Given the description of an element on the screen output the (x, y) to click on. 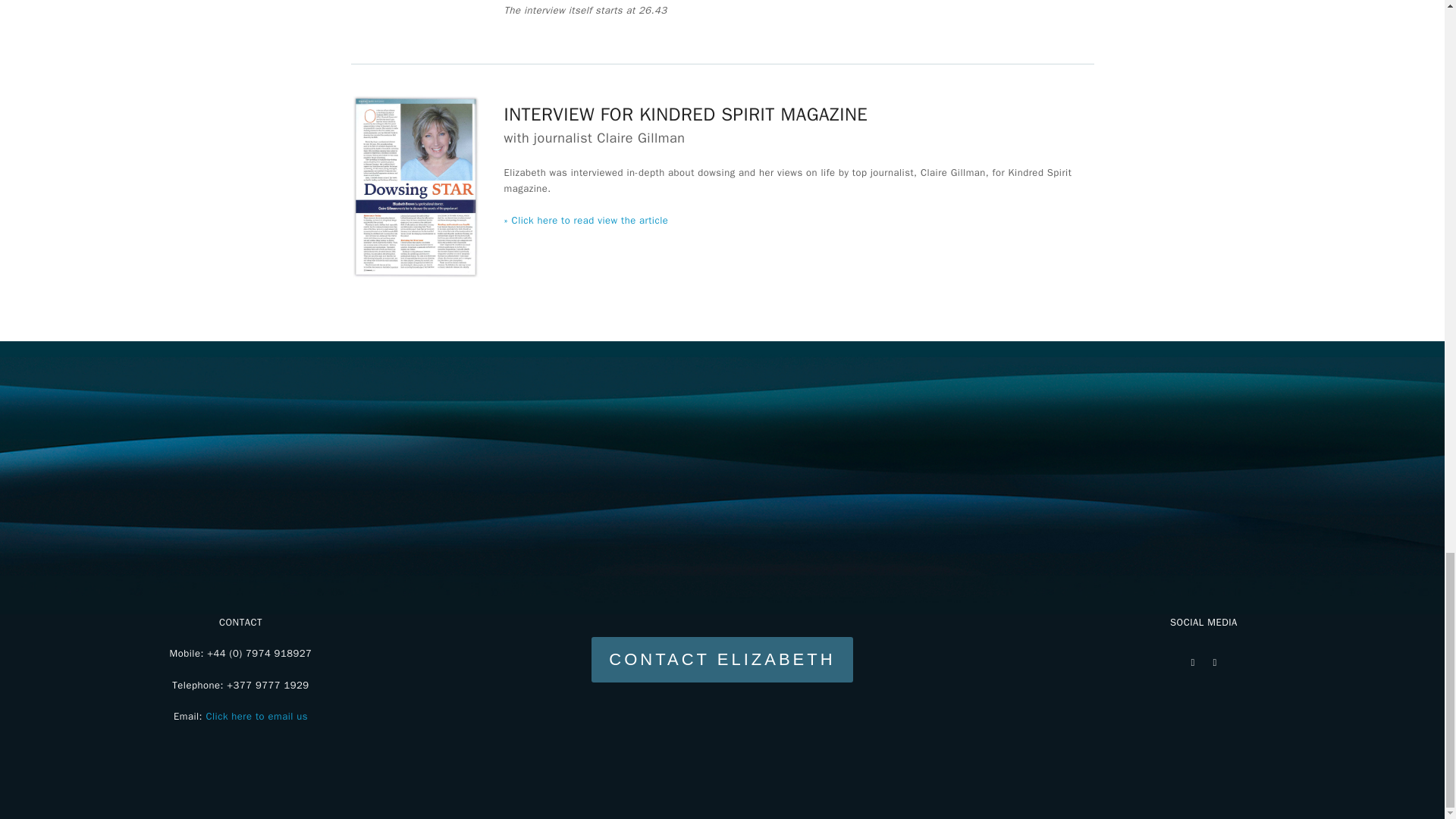
Contact Elizabeth Brown (722, 659)
Twitter (1192, 661)
kindred-spirit-magazine (415, 187)
Twitter (1192, 661)
Instagram (1214, 661)
Instagram (1214, 661)
Click here to email us (256, 716)
CONTACT ELIZABETH (722, 659)
